Given the description of an element on the screen output the (x, y) to click on. 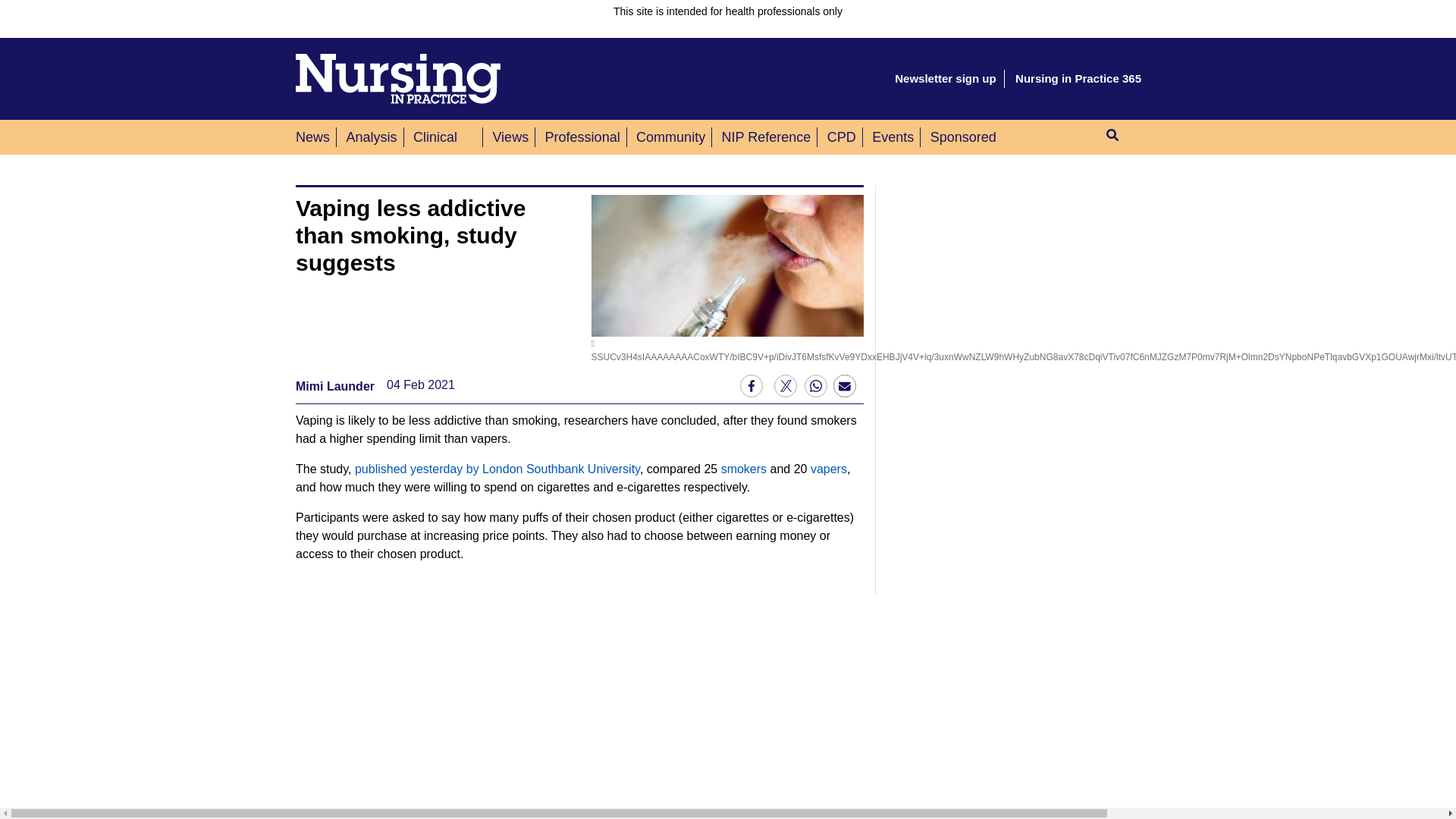
Clinical (435, 136)
Analysis (371, 136)
Nursing in Practice 365 (1077, 78)
News (315, 136)
Newsletter sign up (945, 78)
